Given the description of an element on the screen output the (x, y) to click on. 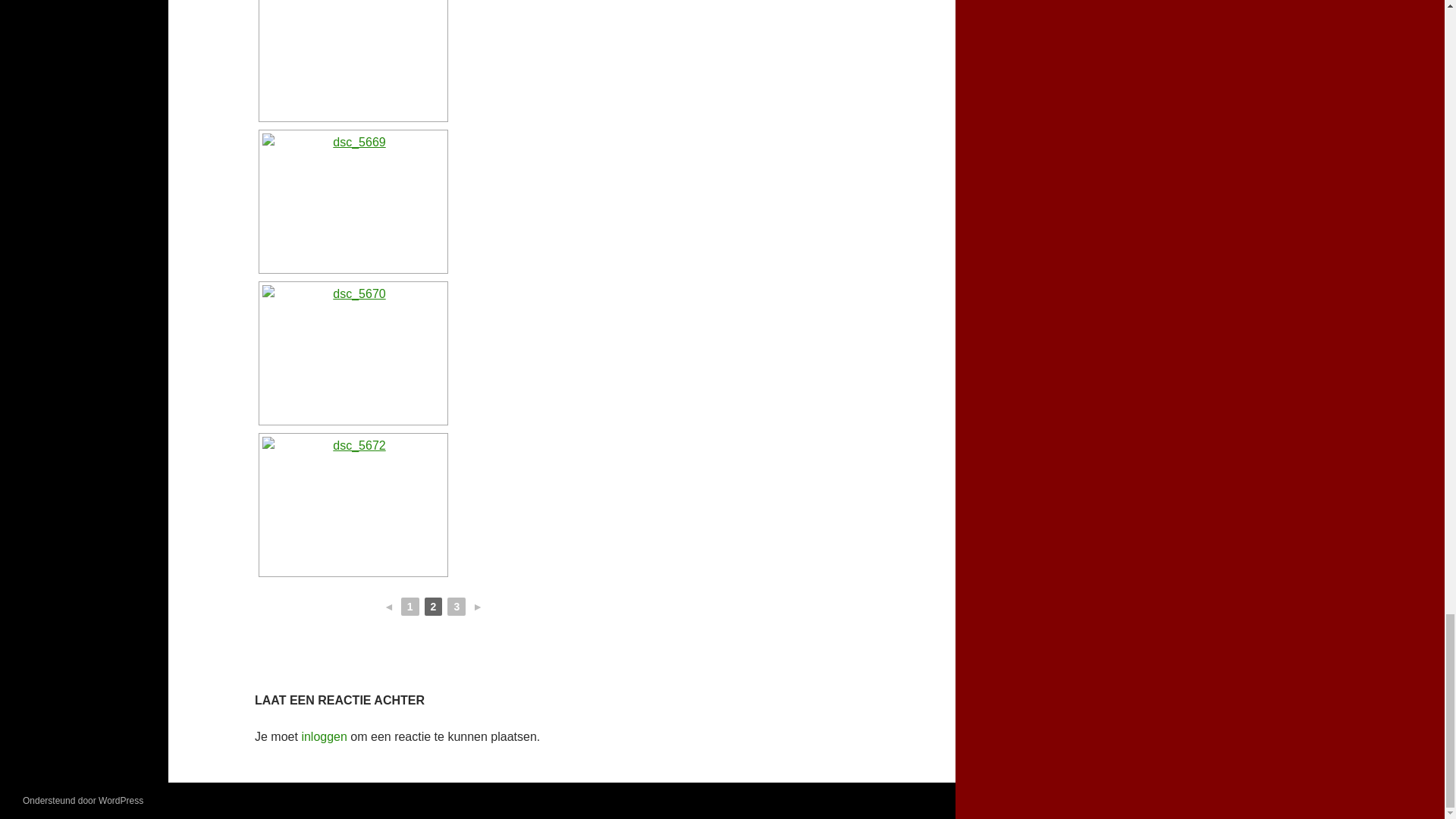
3 (455, 606)
inloggen (324, 736)
Ondersteund door WordPress (82, 800)
1 (410, 606)
